Given the description of an element on the screen output the (x, y) to click on. 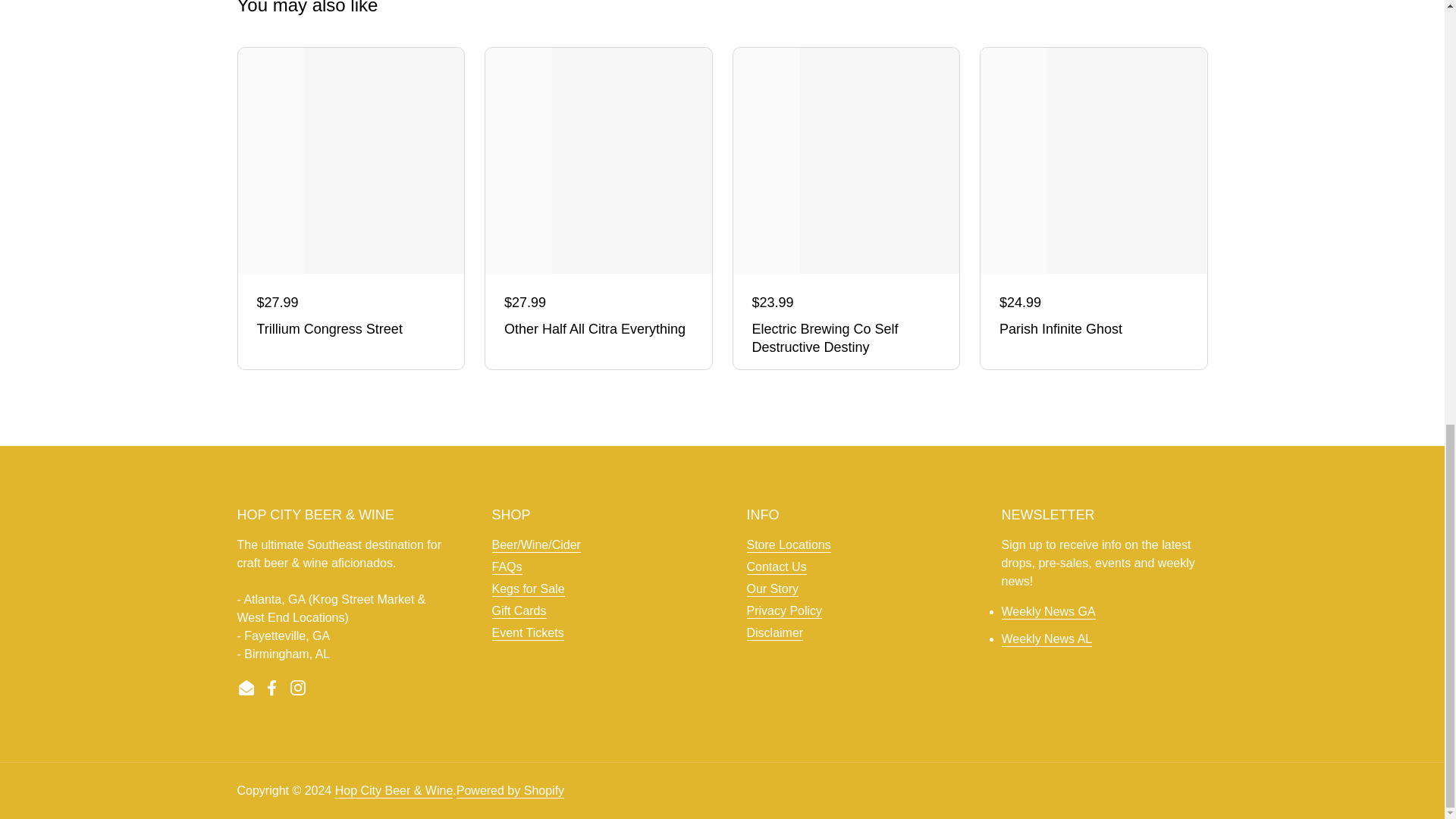
Electric Brewing Co Self Destructive Destiny (846, 339)
Weekly Blog - Georgia (1047, 612)
Trillium Congress Street (350, 330)
Other Half All Citra Everything (598, 330)
Parish Infinite Ghost (1093, 330)
Weekly Blog - Birmingham, AL (1046, 639)
